Given the description of an element on the screen output the (x, y) to click on. 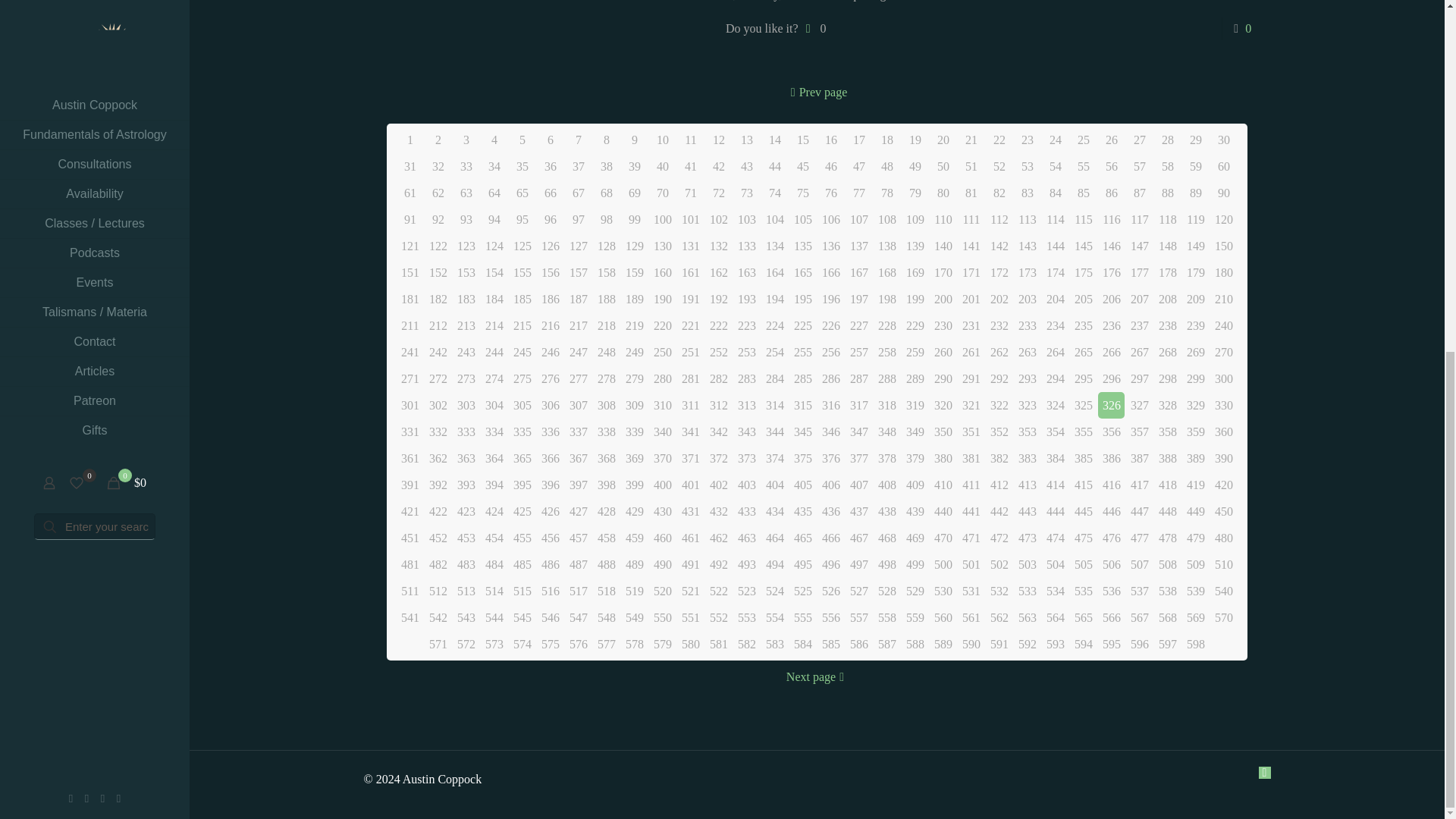
YouTube (102, 186)
Facebook (71, 186)
Instagram (118, 186)
